Given the description of an element on the screen output the (x, y) to click on. 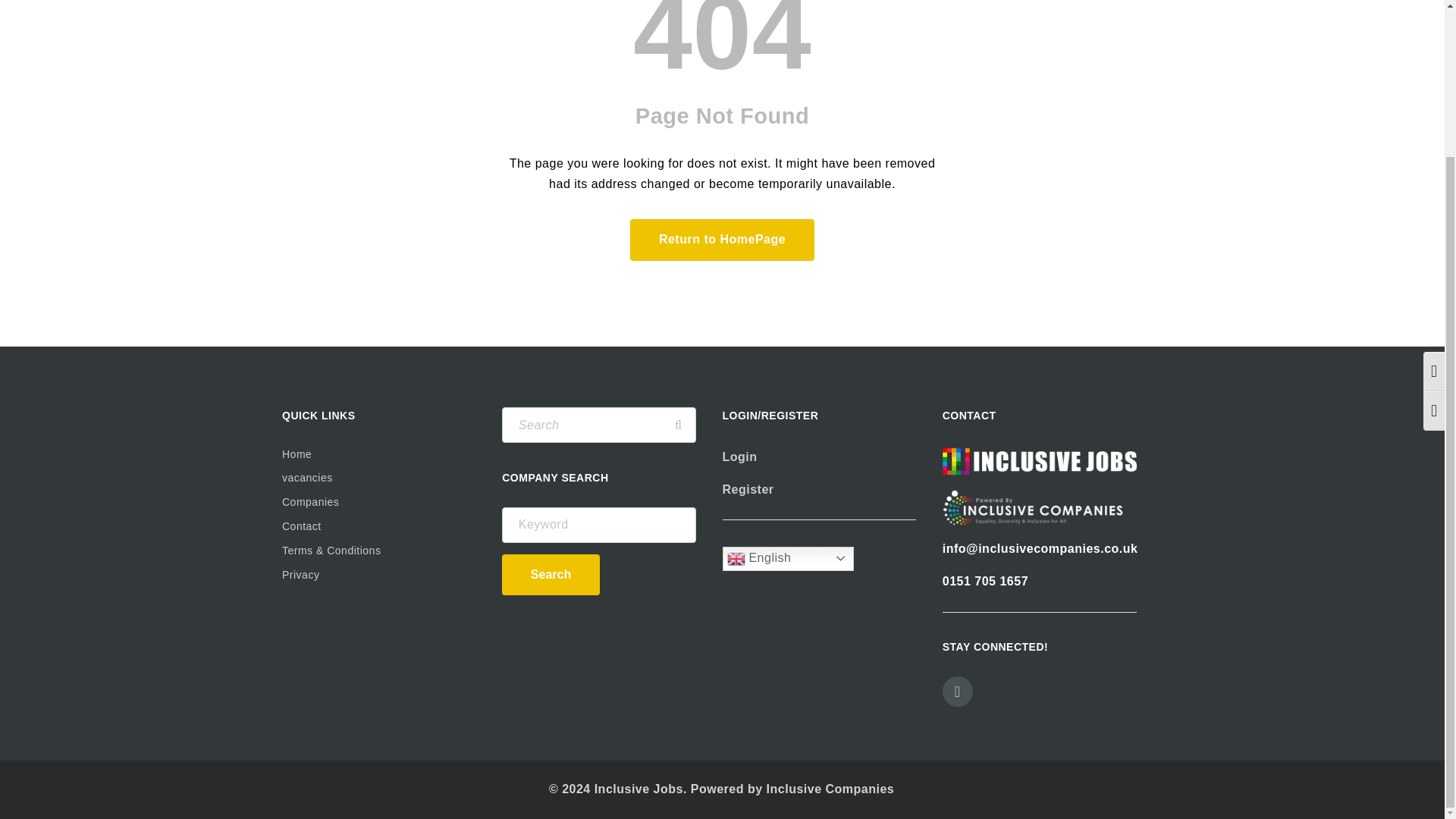
Privacy (379, 575)
Search (550, 575)
vacancies (379, 478)
Login (739, 456)
Search (678, 425)
Search (678, 425)
Contact (379, 526)
Home (379, 454)
Companies (379, 502)
Return to HomePage (721, 240)
